Given the description of an element on the screen output the (x, y) to click on. 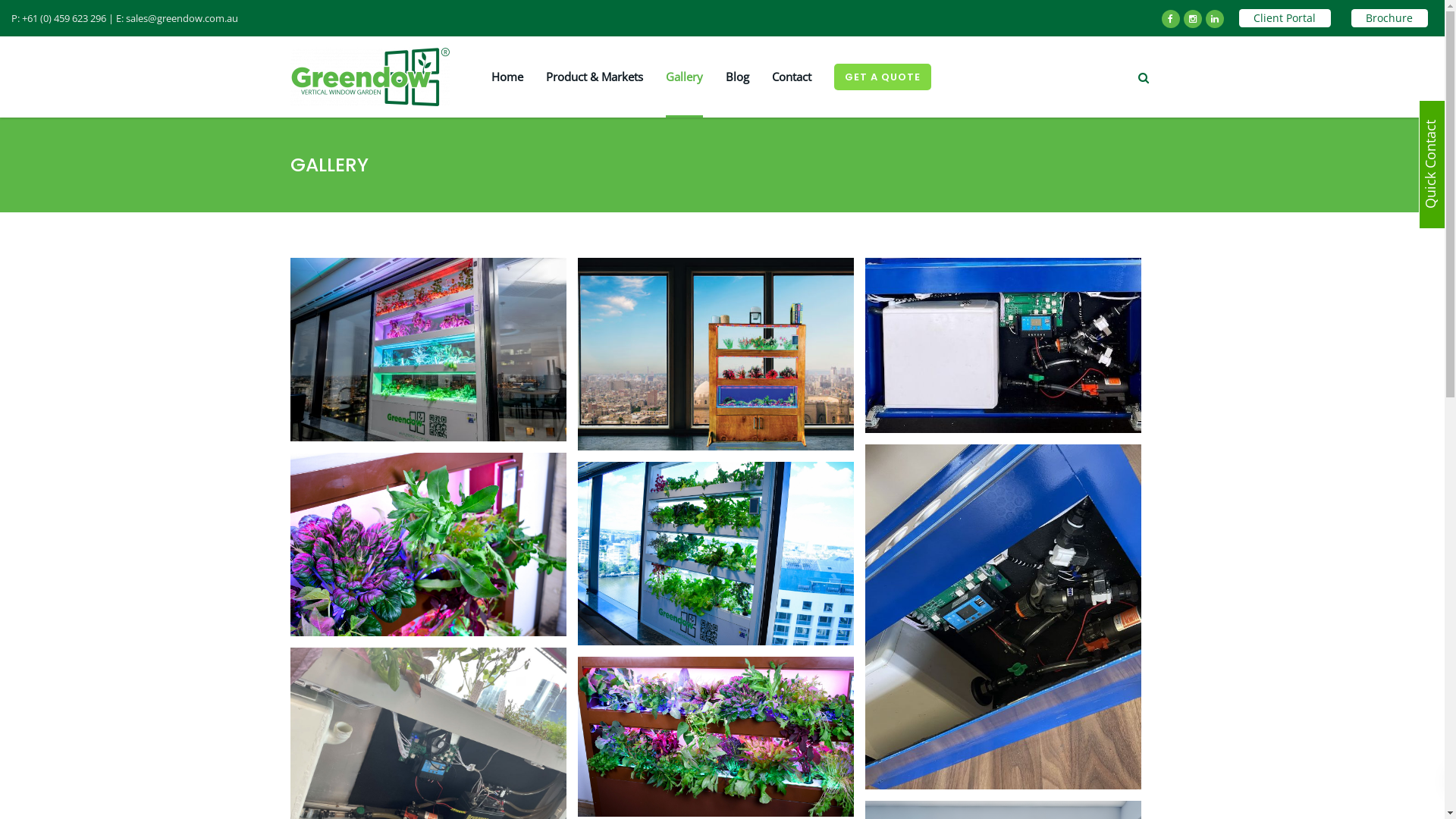
greendow-2 Element type: hover (715, 354)
Client Portal Element type: text (1284, 18)
Contact Element type: text (791, 76)
Product & Markets Element type: text (594, 76)
Blog Element type: text (736, 76)
GET A QUOTE Element type: text (882, 76)
_DSC3212 Element type: hover (715, 553)
Greendow Element type: hover (715, 736)
_DSC3183 Element type: hover (427, 544)
Home Element type: text (507, 76)
Greendow Element type: hover (427, 349)
inside-1 Element type: hover (1002, 616)
Greendow Element type: hover (427, 349)
Gallery Element type: text (683, 76)
openbox-2 Element type: hover (1002, 345)
greendow-2 Element type: hover (715, 353)
Brochure Element type: text (1389, 18)
_DSC3212 Element type: hover (715, 553)
openbox-2 Element type: hover (1002, 345)
_DSC3183 Element type: hover (427, 544)
